Given the description of an element on the screen output the (x, y) to click on. 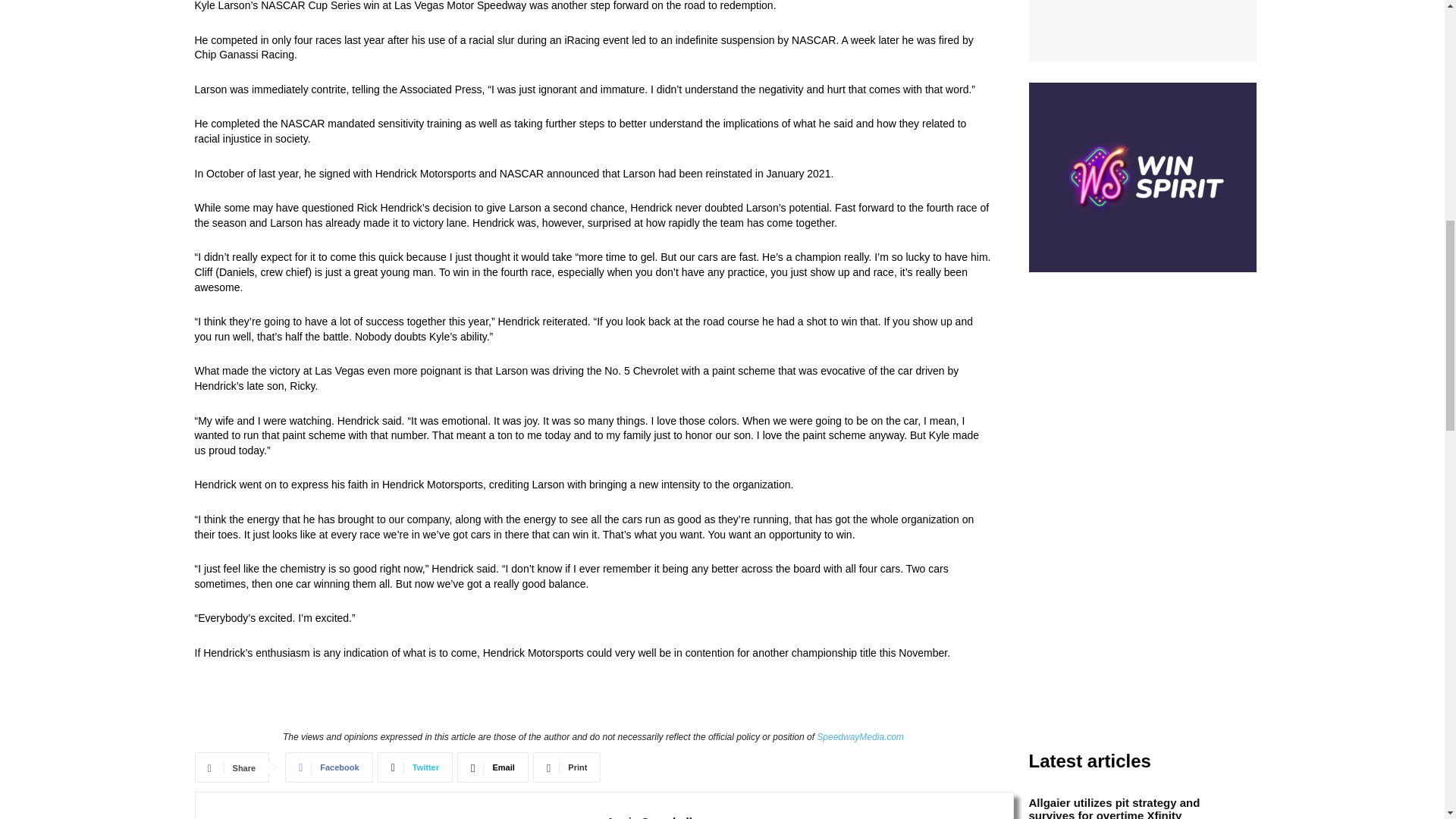
Email (492, 767)
Facebook (328, 767)
Twitter (414, 767)
